Given the description of an element on the screen output the (x, y) to click on. 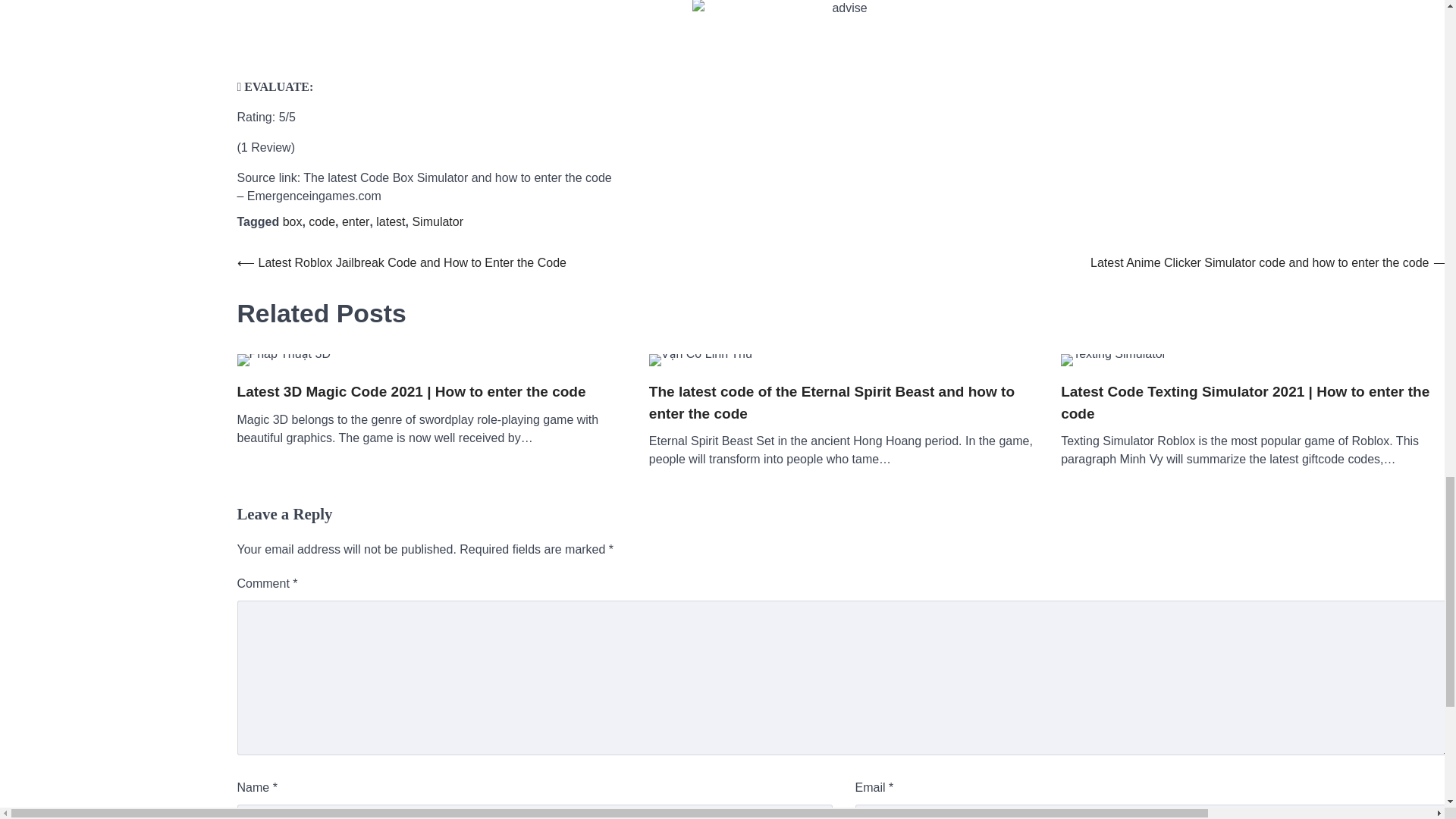
advise (842, 29)
enter (355, 221)
box (292, 221)
Simulator (437, 221)
latest (389, 221)
code (321, 221)
